Given the description of an element on the screen output the (x, y) to click on. 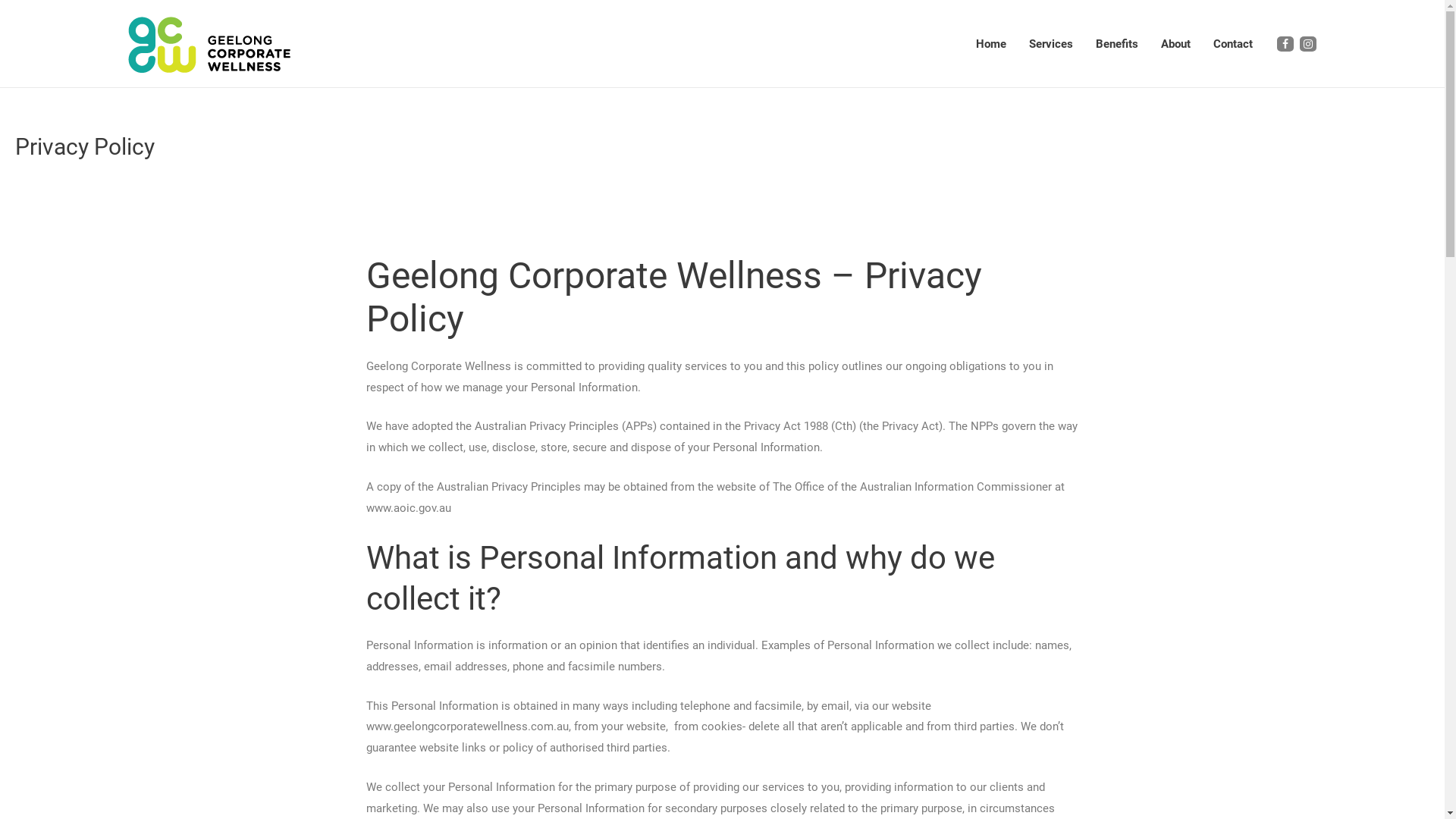
About Element type: text (1175, 43)
Services Element type: text (1050, 43)
Benefits Element type: text (1116, 43)
Home Element type: text (990, 43)
Contact Element type: text (1232, 43)
